Given the description of an element on the screen output the (x, y) to click on. 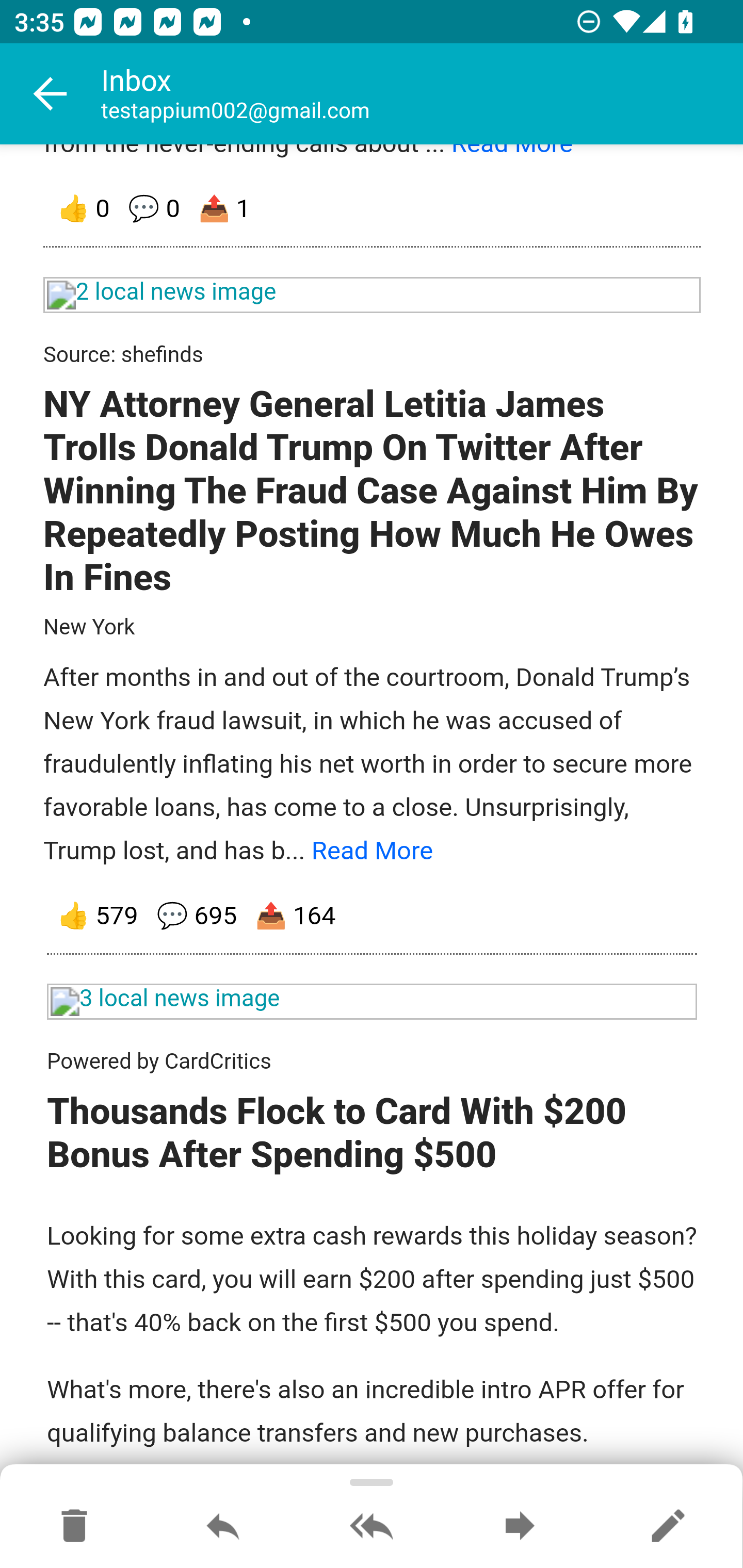
Navigate up (50, 93)
Inbox testappium002@gmail.com (422, 93)
👍 0   💬 0   📤 1 (372, 210)
2 local news image (372, 294)
👍 579   💬 695   📤 164 (372, 916)
3 local news image (372, 1002)
Move to Deleted (74, 1527)
Reply (222, 1527)
Reply all (371, 1527)
Forward (519, 1527)
Reply as new (667, 1527)
